Given the description of an element on the screen output the (x, y) to click on. 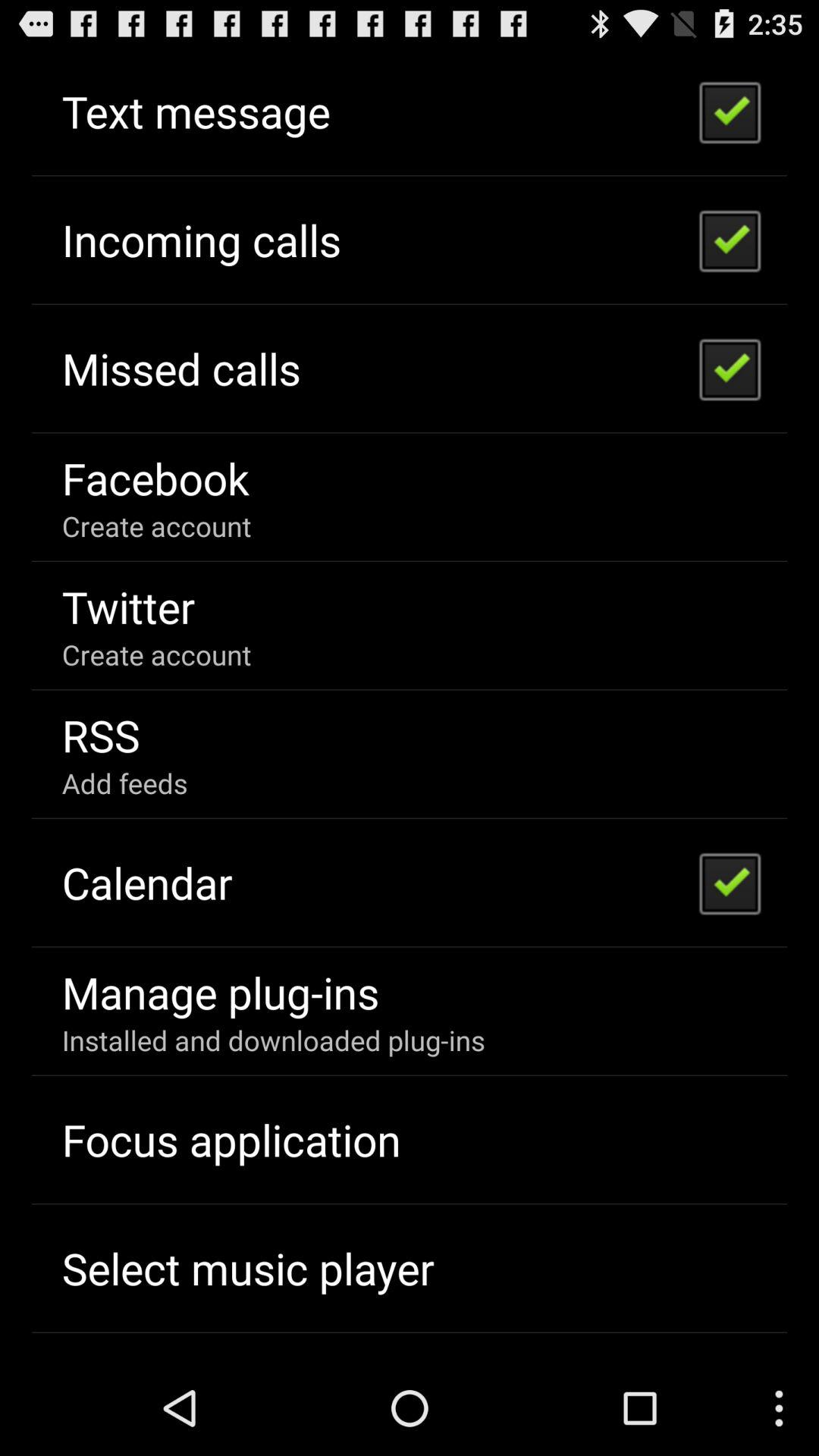
turn off icon above focus application (273, 1040)
